Given the description of an element on the screen output the (x, y) to click on. 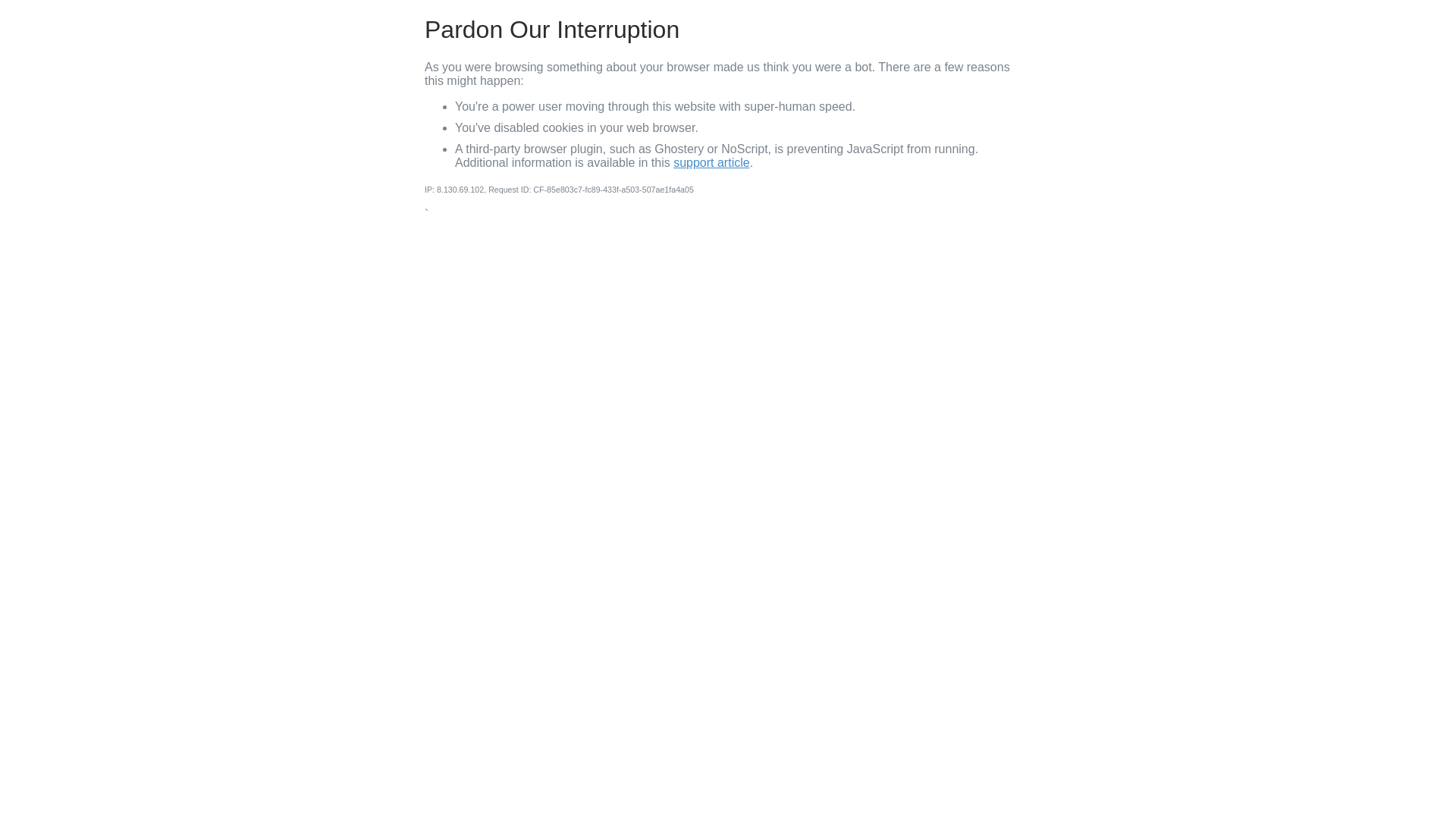
support article Element type: text (711, 162)
